Given the description of an element on the screen output the (x, y) to click on. 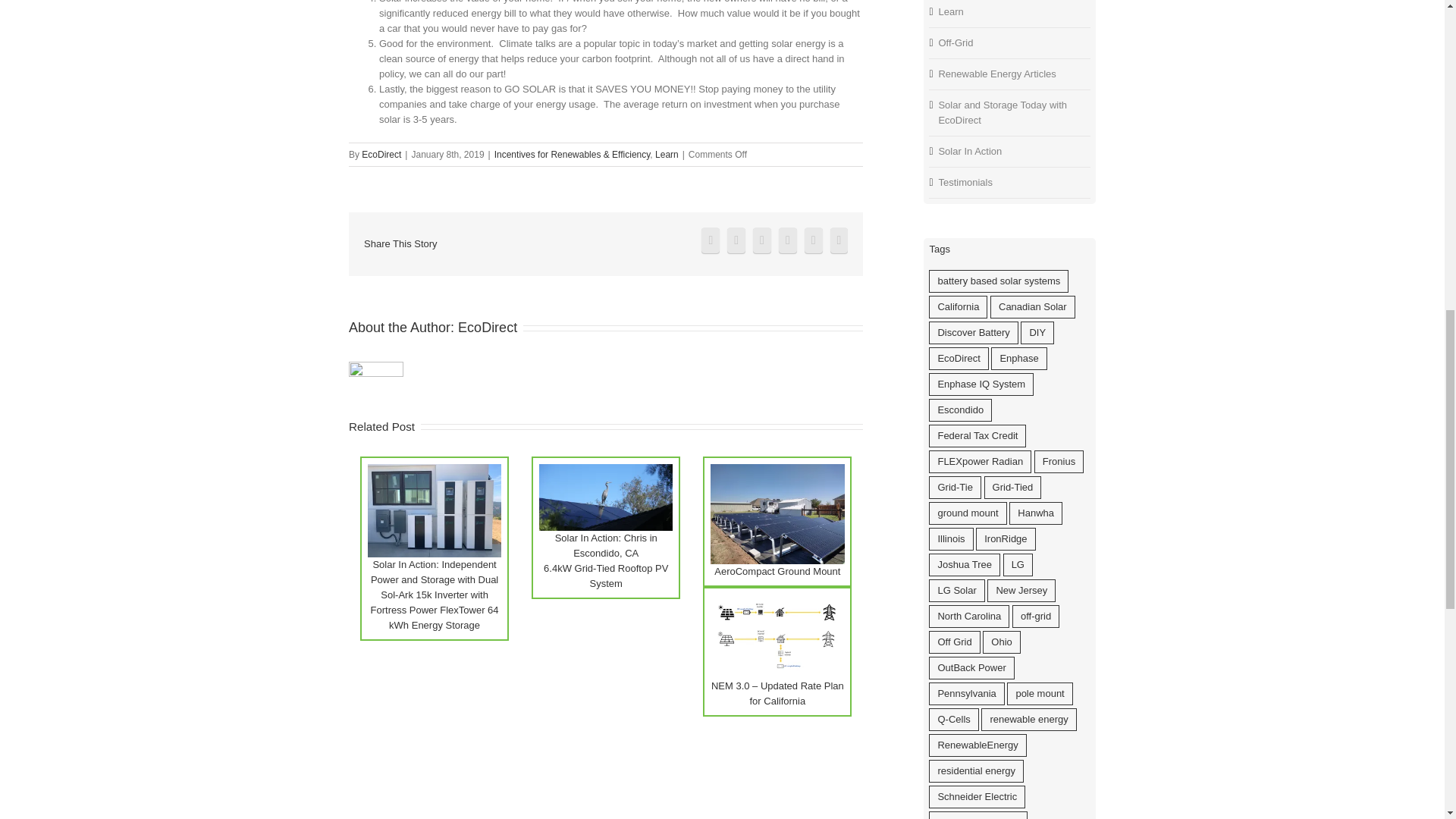
Posts by EcoDirect (381, 154)
Posts by EcoDirect (487, 327)
